Given the description of an element on the screen output the (x, y) to click on. 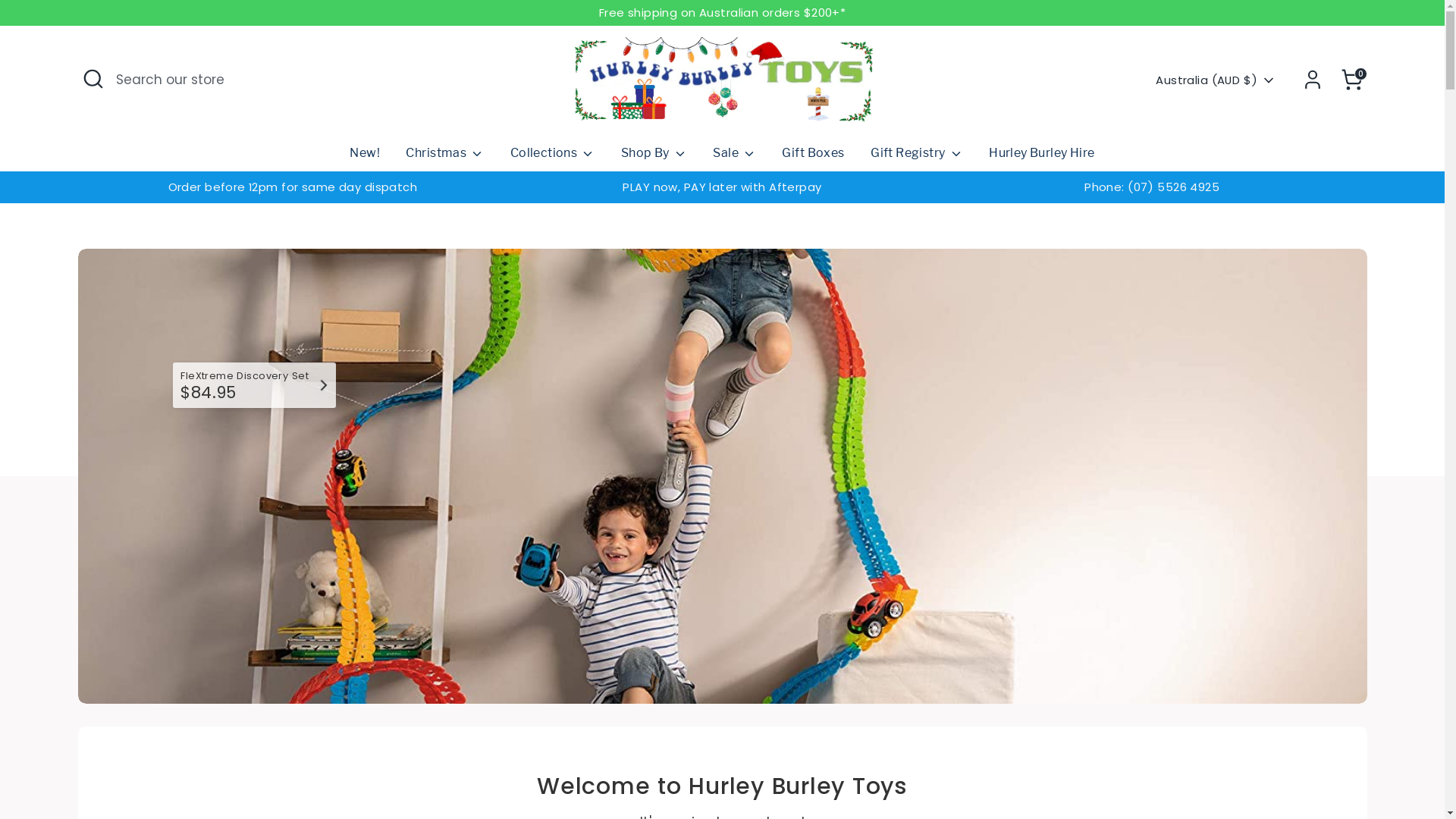
0 Element type: text (1351, 79)
Sale Element type: text (734, 157)
Gift Boxes Element type: text (812, 157)
Collections Element type: text (552, 157)
Christmas Element type: text (444, 157)
New! Element type: text (364, 157)
FleXtreme Discovery Set
$84.95 Element type: text (253, 384)
Hurley Burley Hire Element type: text (1041, 157)
Australia (AUD $) Element type: text (1215, 80)
Shop By Element type: text (653, 157)
Gift Registry Element type: text (916, 157)
